Given the description of an element on the screen output the (x, y) to click on. 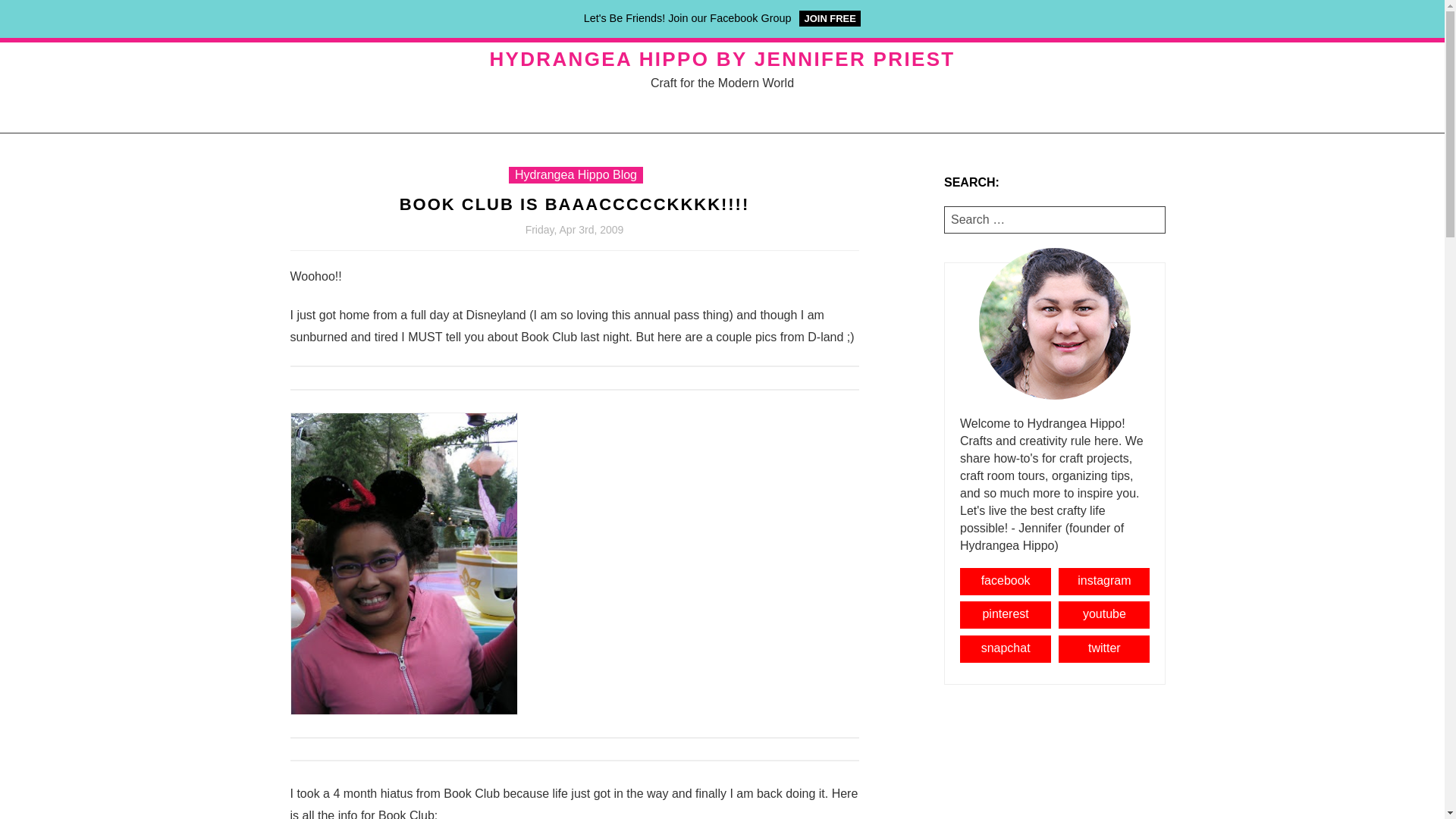
facebook (1005, 581)
Book Club is BAAACCCCCKKKK!!!! (573, 204)
Search (111, 13)
Advertisement (1054, 763)
BLOG (836, 21)
youtube (1104, 614)
DISCLOSURE AND PRIVACY POLICY (584, 21)
JOIN FREE (829, 17)
BOOK CLUB IS BAAACCCCCKKKK!!!! (573, 204)
Hydrangea Hippo Blog (575, 175)
RESOURCES (754, 21)
instagram (1104, 581)
HYDRANGEA HIPPO BY JENNIFER PRIEST (721, 58)
pinterest (1005, 614)
MEET JENNIFER (989, 21)
